Given the description of an element on the screen output the (x, y) to click on. 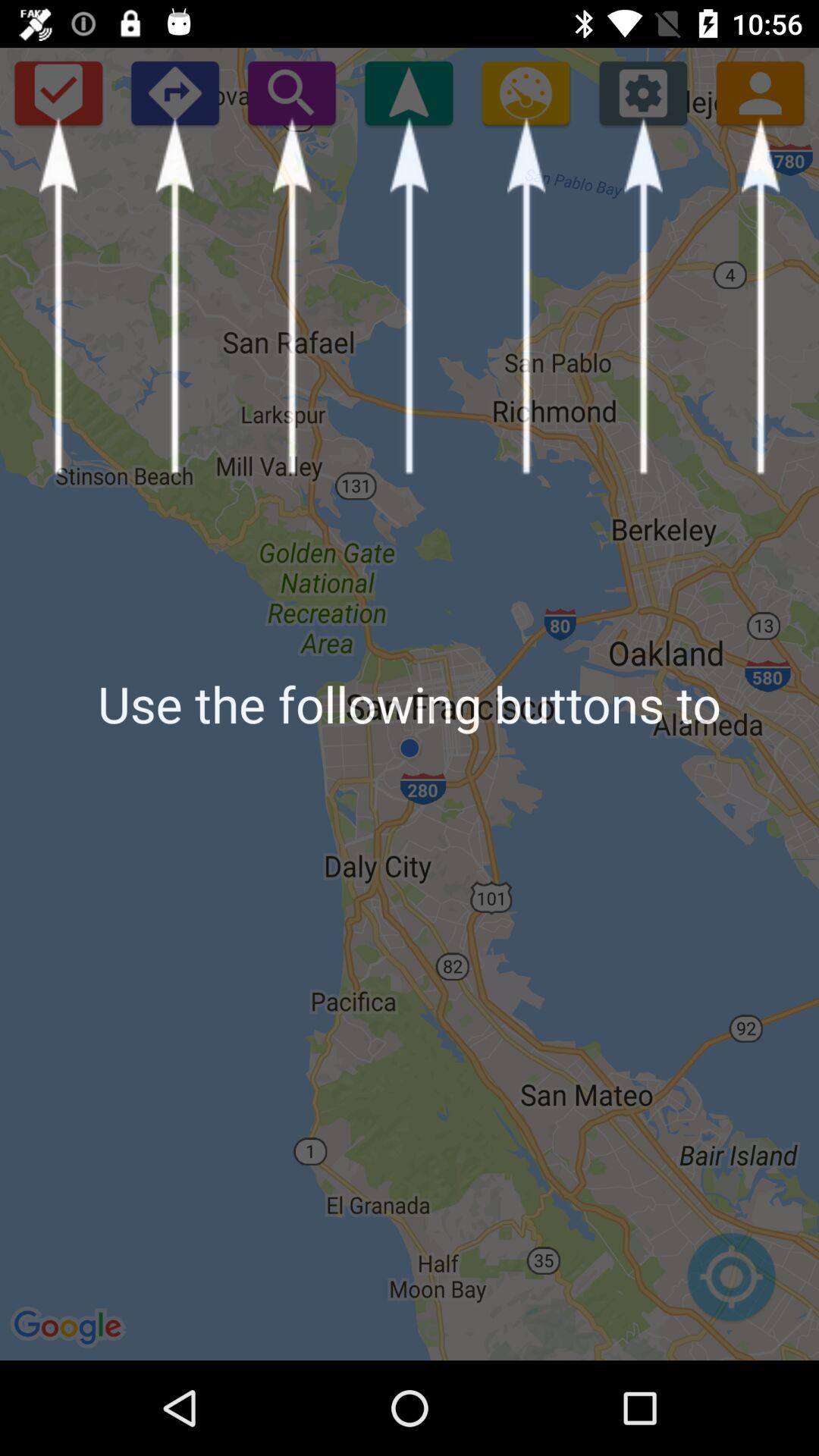
search option (291, 92)
